Given the description of an element on the screen output the (x, y) to click on. 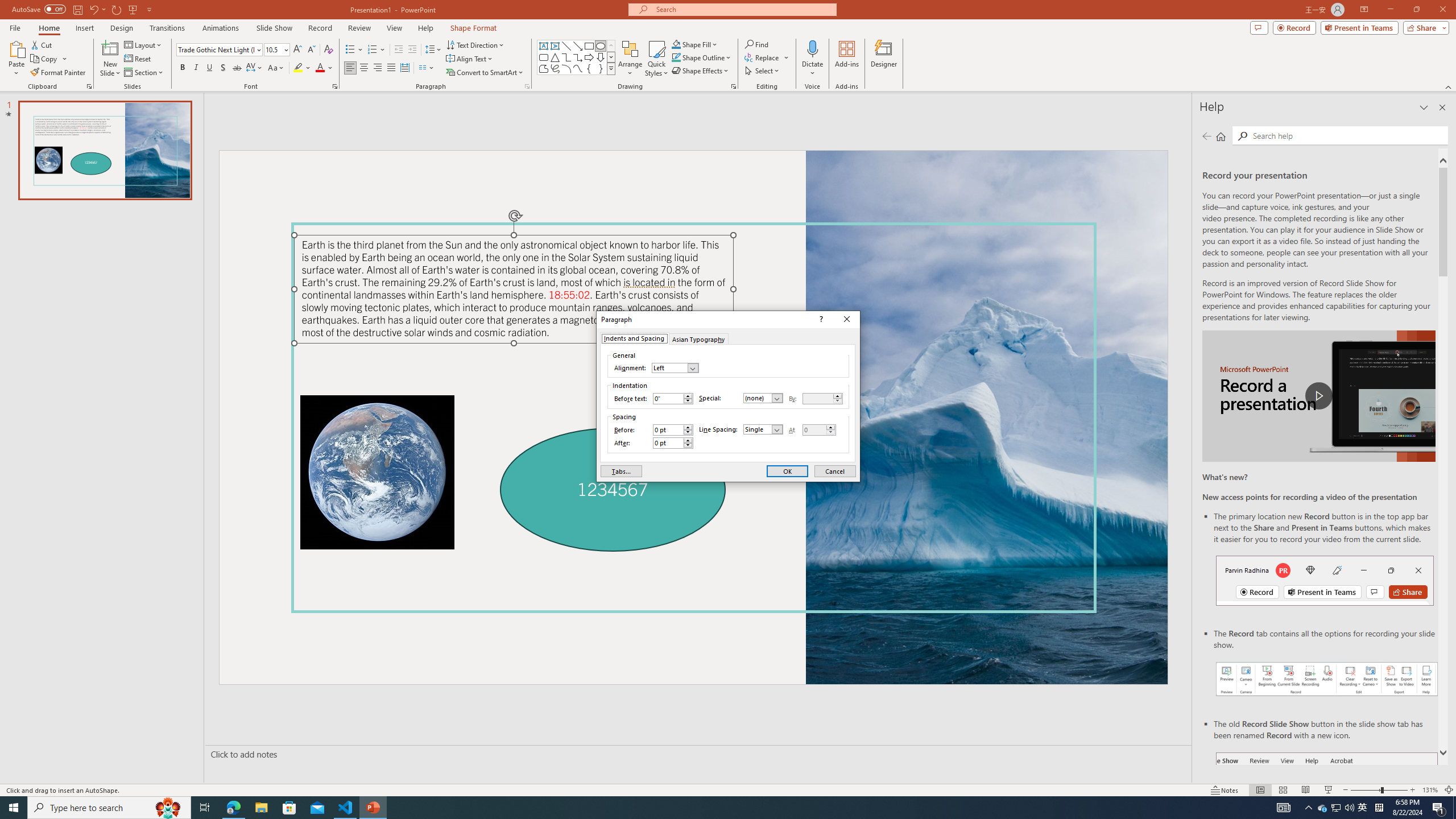
Before text (672, 398)
Zoom 131% (1430, 790)
Action Center, 1 new notification (1439, 807)
Asian Typography (698, 337)
